Given the description of an element on the screen output the (x, y) to click on. 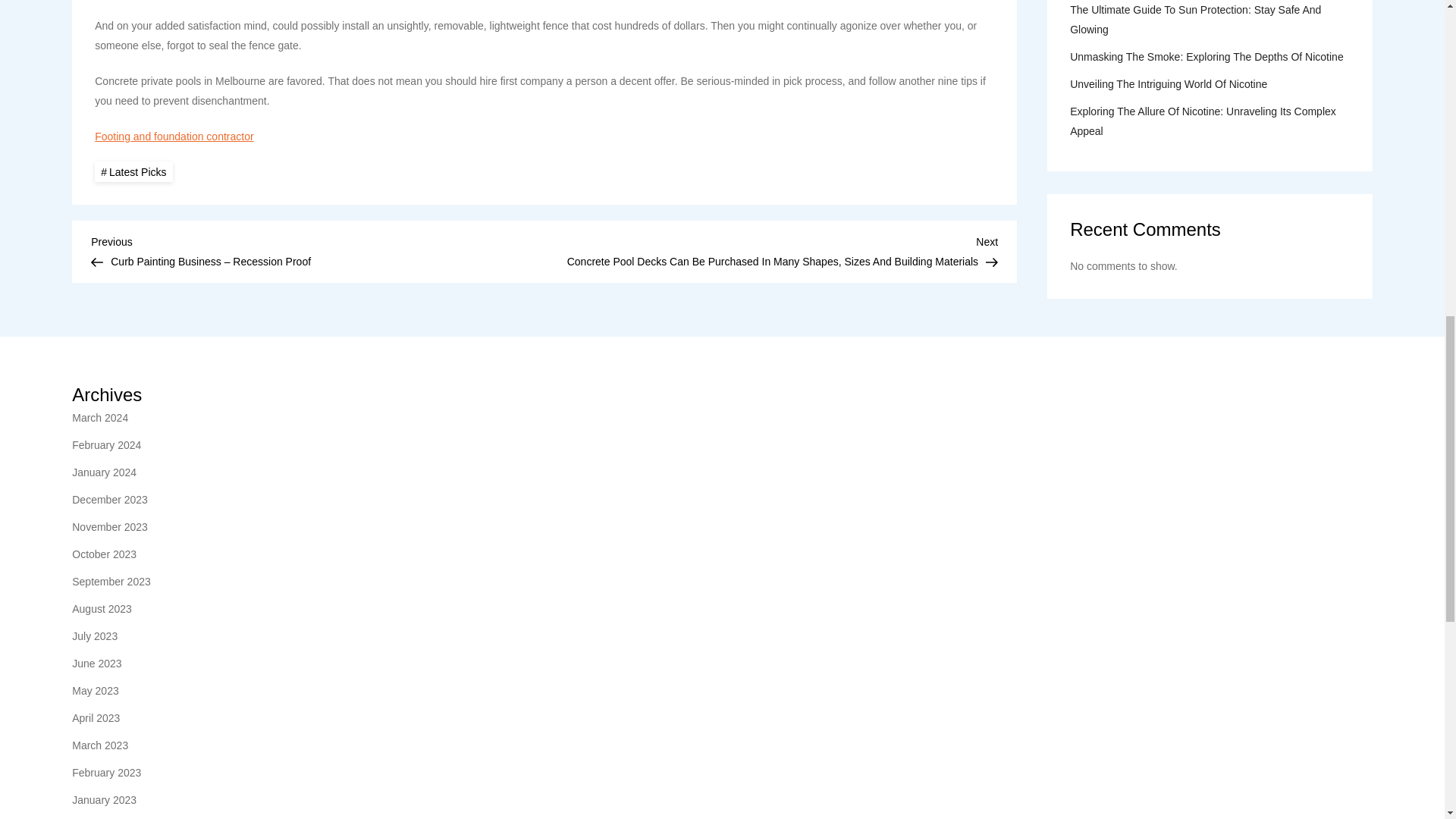
January 2024 (103, 472)
Footing and foundation contractor (173, 136)
March 2024 (99, 417)
January 2023 (103, 799)
June 2023 (95, 663)
July 2023 (94, 636)
Latest Picks (132, 171)
March 2023 (99, 745)
October 2023 (103, 554)
December 2023 (109, 499)
